Given the description of an element on the screen output the (x, y) to click on. 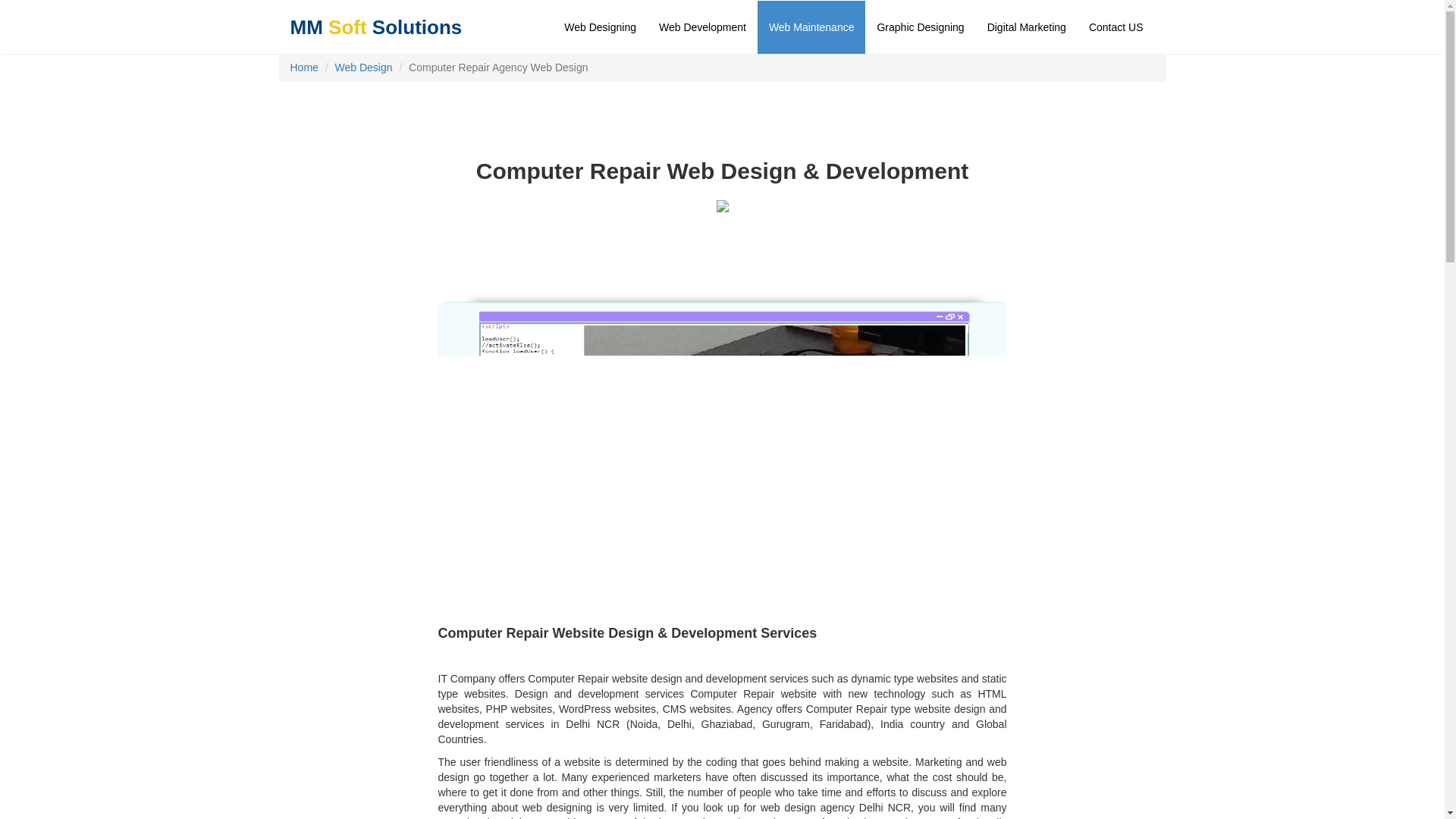
Web Maintenance (811, 27)
Home (303, 67)
Web Designing (600, 27)
Web Design (363, 67)
Graphic Designing (919, 27)
Digital Marketing (1026, 27)
MM Soft Solutions (376, 19)
Contact US (1115, 27)
Web Development (702, 27)
